Given the description of an element on the screen output the (x, y) to click on. 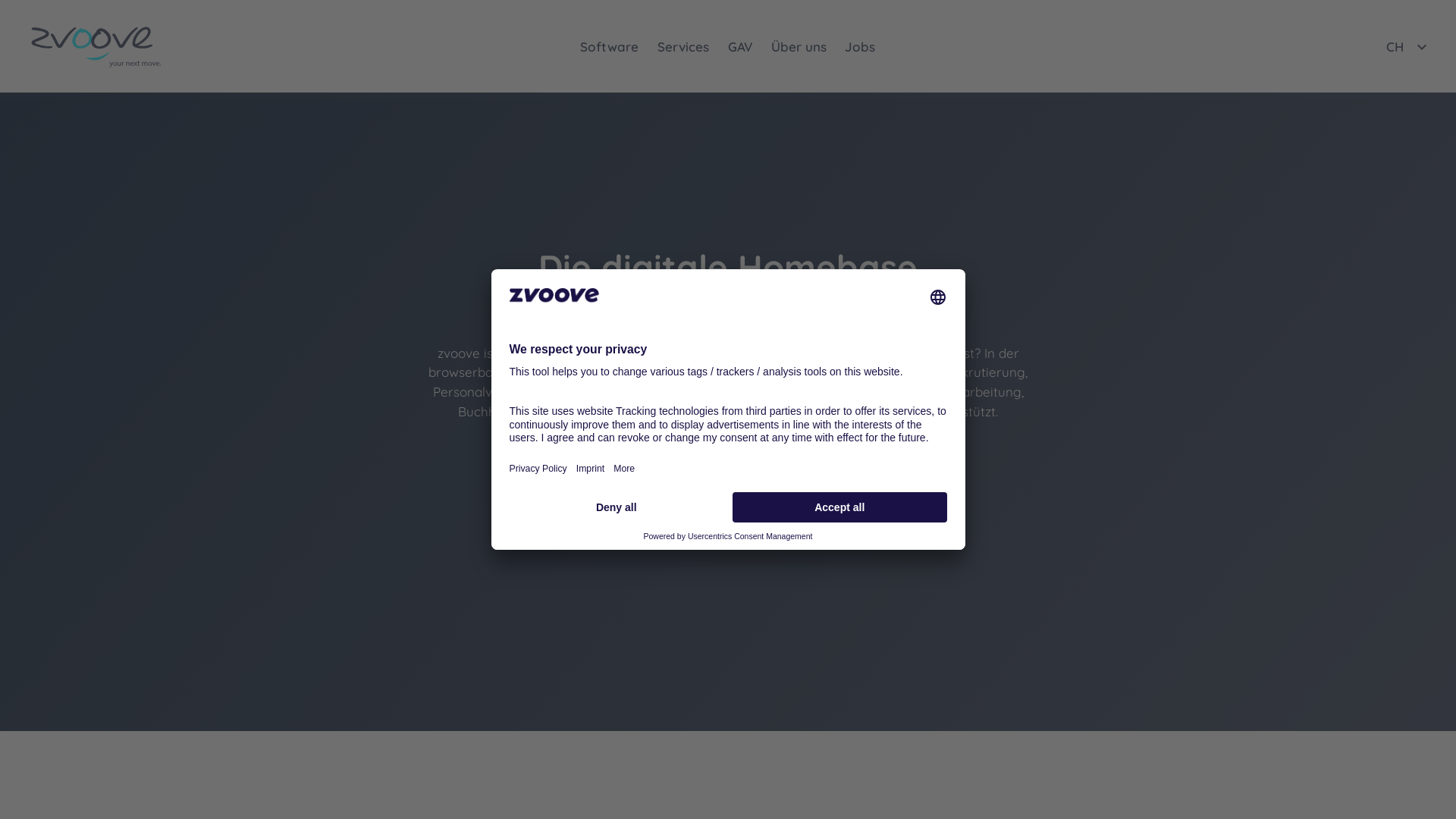
GAV Element type: text (740, 46)
CH
expand_more Element type: text (1408, 46)
Services entdecken Element type: text (814, 459)
Jobs Element type: text (859, 46)
Software Element type: text (609, 46)
Software kennenlernen Element type: text (650, 459)
Services Element type: text (683, 46)
